Given the description of an element on the screen output the (x, y) to click on. 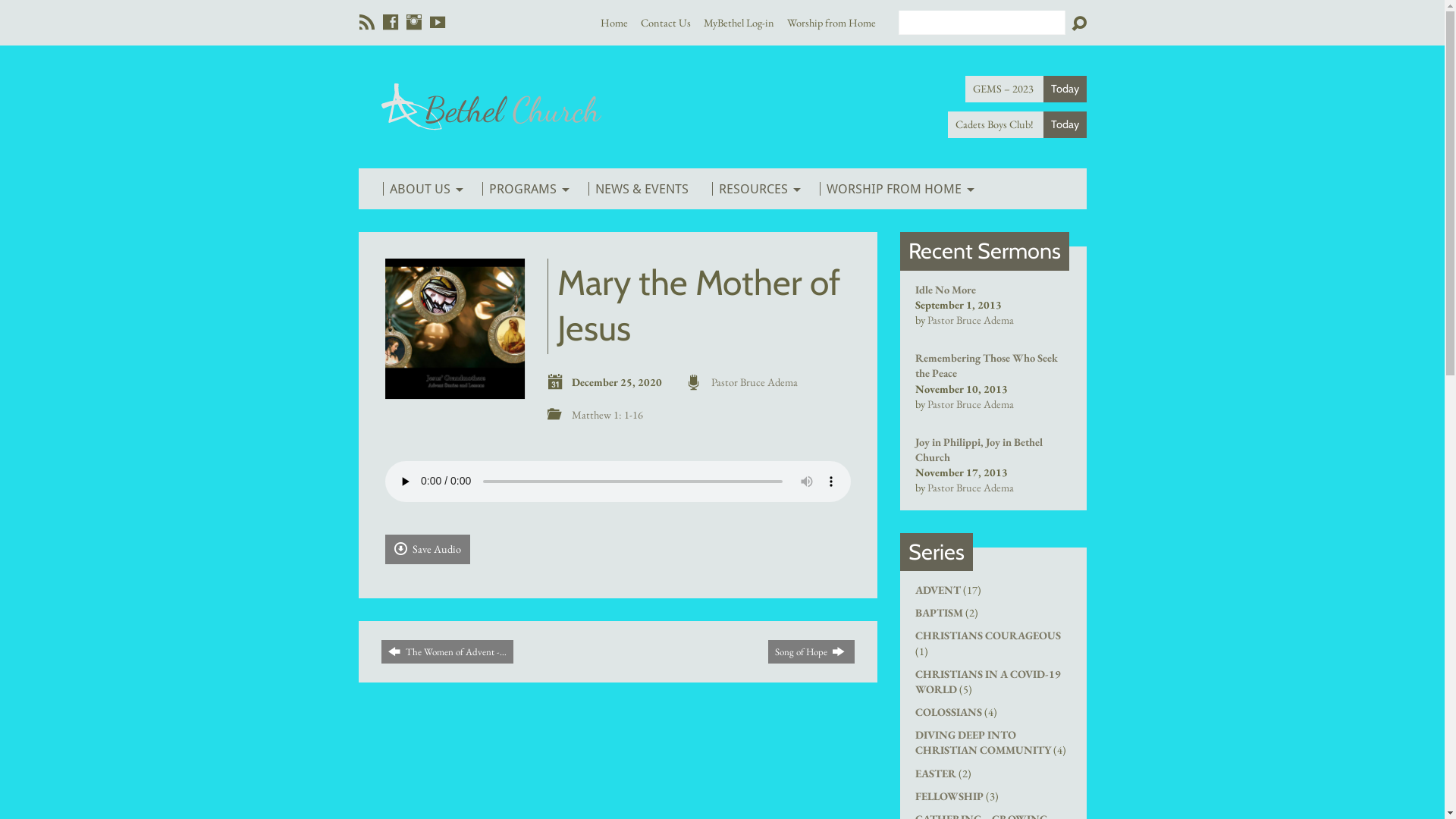
YouTube Element type: hover (436, 21)
Instagram Element type: hover (413, 21)
WORSHIP FROM HOME Element type: text (894, 188)
CHRISTIANS COURAGEOUS Element type: text (987, 634)
MyBethel Log-in Element type: text (738, 22)
Worship from Home Element type: text (831, 22)
Facebook Element type: hover (389, 21)
DIVING DEEP INTO CHRISTIAN COMMUNITY Element type: text (982, 741)
Pastor Bruce Adema Element type: text (969, 487)
Save Audio Element type: text (427, 548)
Contact Us Element type: text (665, 22)
RSS Element type: hover (366, 21)
CHRISTIANS IN A COVID-19 WORLD Element type: text (987, 681)
Idle No More Element type: text (944, 289)
COLOSSIANS Element type: text (947, 711)
FELLOWSHIP Element type: text (948, 795)
Cadets Boys Club! Today Element type: text (1016, 124)
Pastor Bruce Adema Element type: text (754, 381)
Pastor Bruce Adema Element type: text (969, 319)
Remembering Those Who Seek the Peace Element type: text (985, 364)
RESOURCES Element type: text (753, 188)
PROGRAMS Element type: text (523, 188)
Song of Hope Element type: text (810, 651)
EASTER Element type: text (934, 772)
BAPTISM Element type: text (938, 612)
Pastor Bruce Adema Element type: text (969, 403)
Matthew 1: 1-16 Element type: text (607, 414)
ABOUT US Element type: text (420, 188)
NEWS & EVENTS Element type: text (638, 188)
Joy in Philippi, Joy in Bethel Church Element type: text (977, 449)
ADVENT Element type: text (937, 589)
Home Element type: text (613, 22)
